Given the description of an element on the screen output the (x, y) to click on. 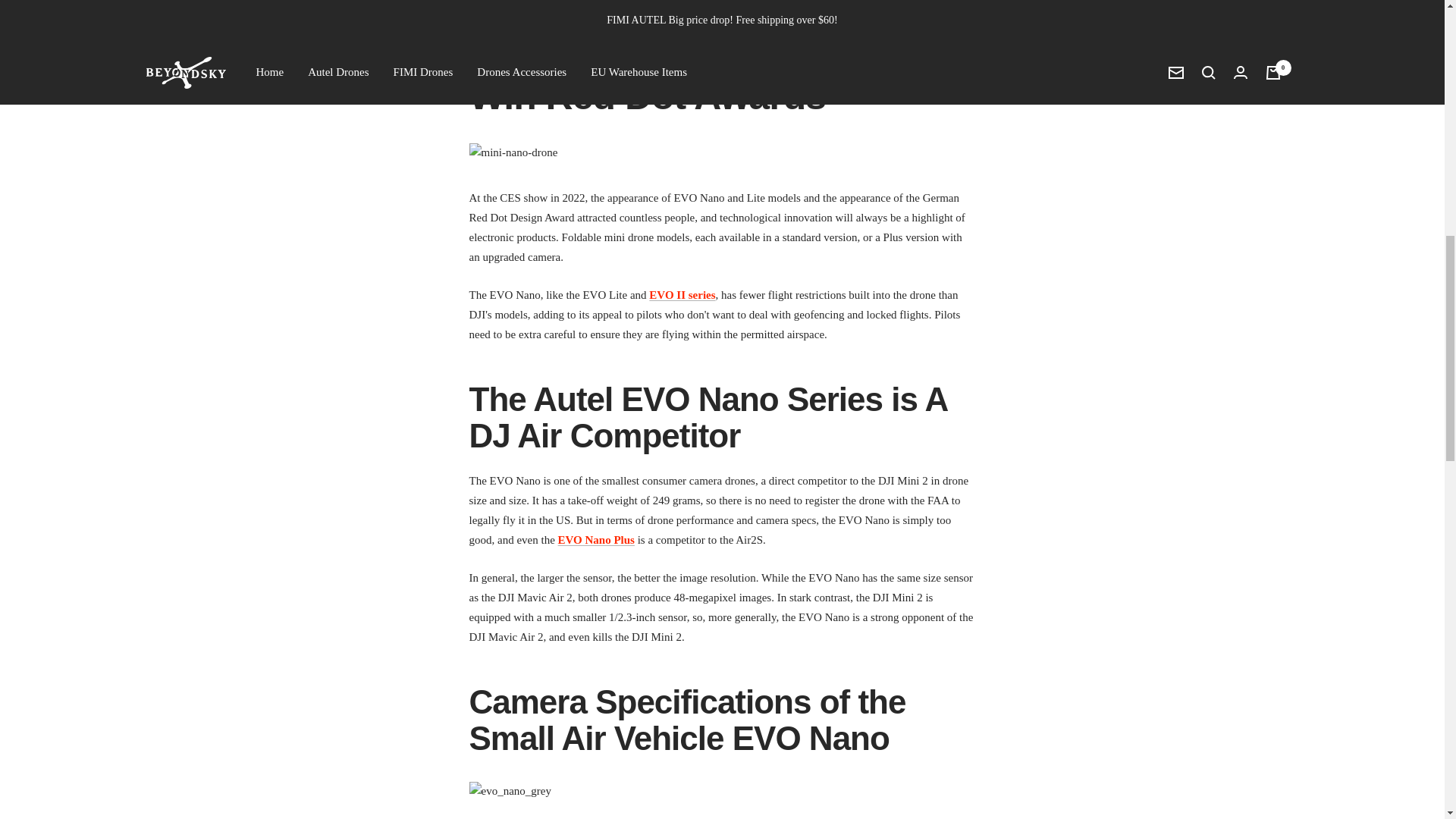
autel evo nano drone (595, 539)
autel evo 2 drone (681, 295)
